Given the description of an element on the screen output the (x, y) to click on. 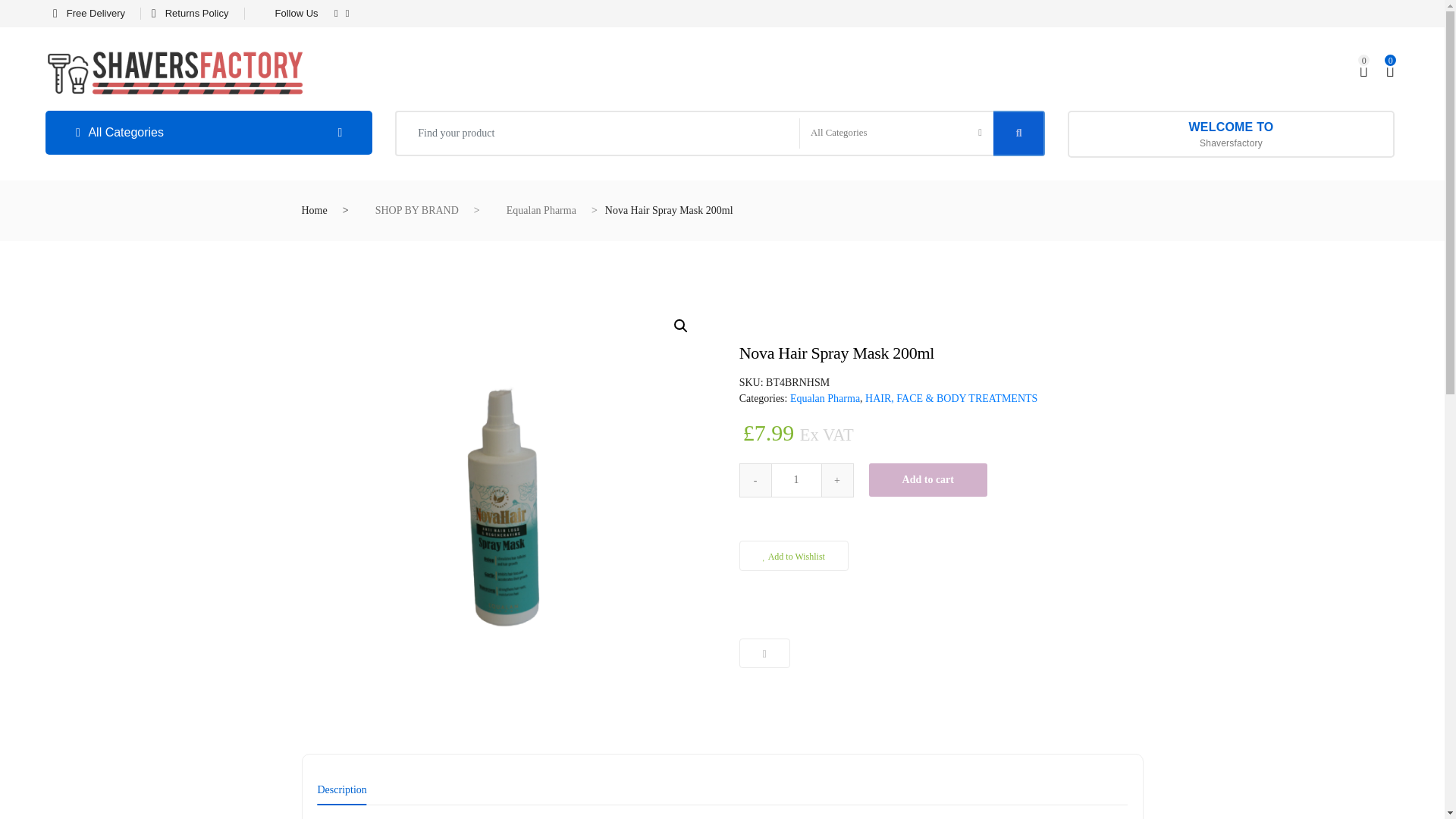
1 (796, 480)
PayPal Message 1 (940, 527)
All Categories (208, 132)
PayPal (940, 601)
- (755, 480)
Qty (796, 480)
